Given the description of an element on the screen output the (x, y) to click on. 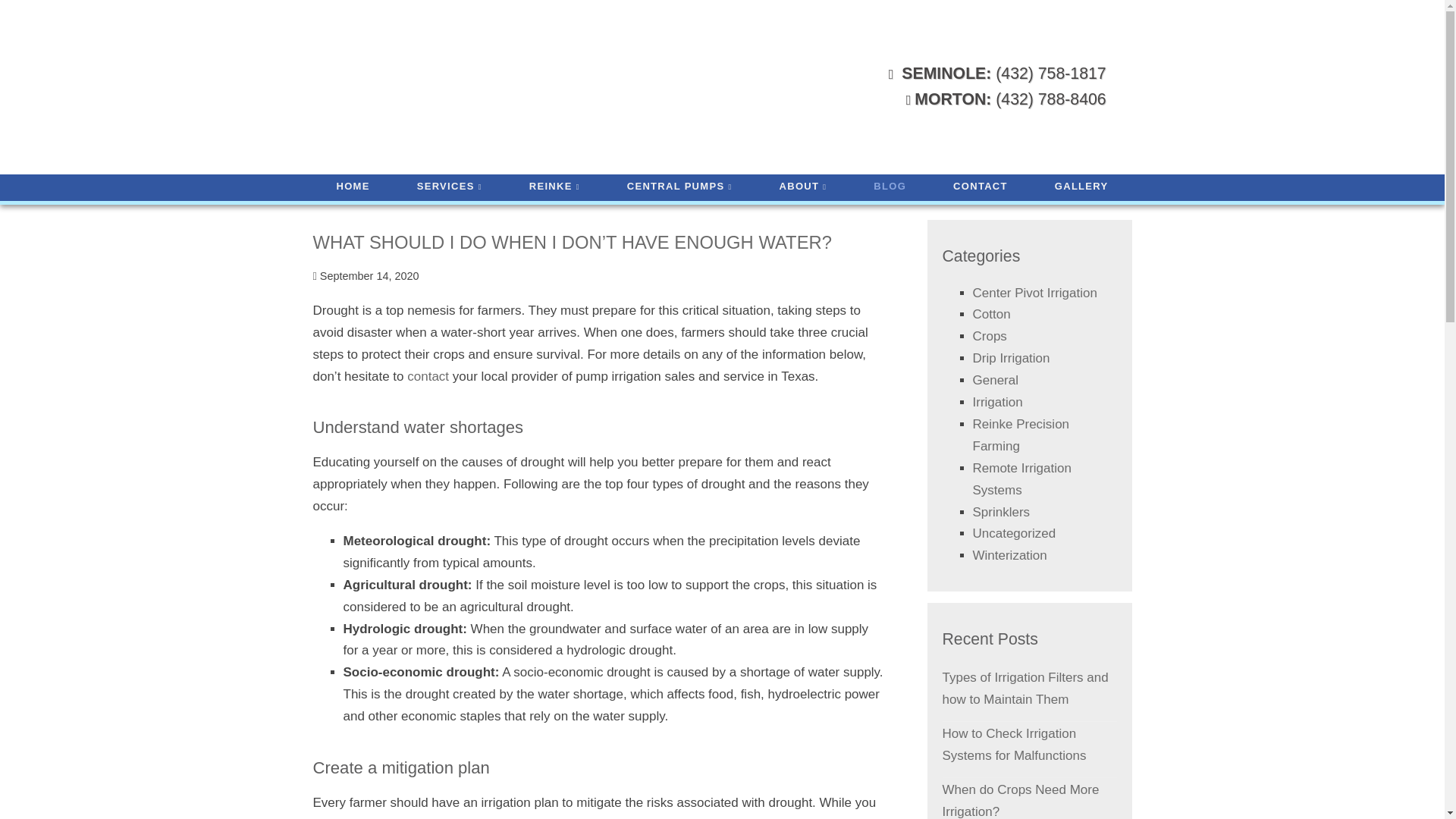
REINKE (554, 186)
SERVICES (449, 186)
HOME (353, 186)
